Given the description of an element on the screen output the (x, y) to click on. 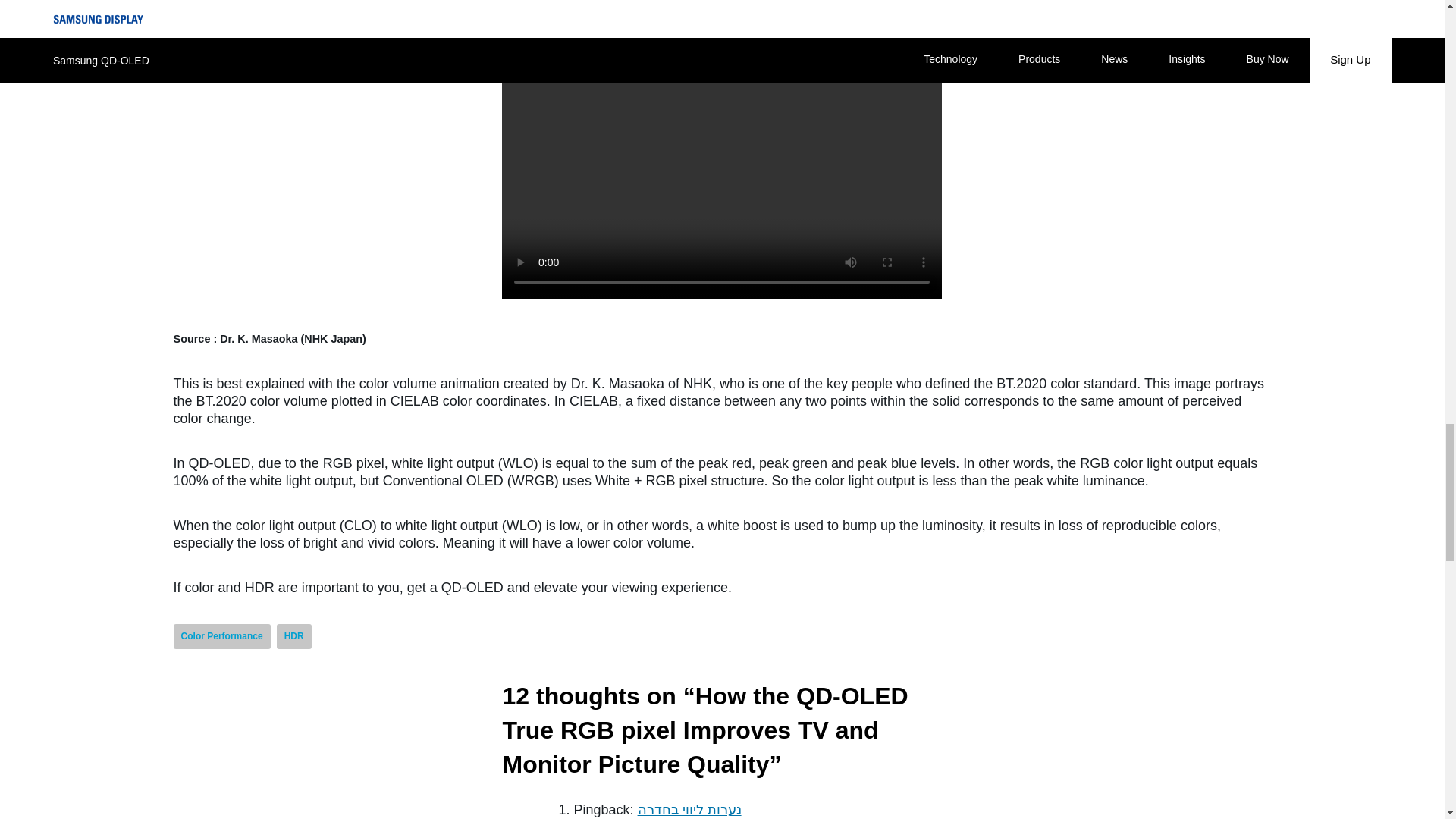
HDR (293, 636)
Color Performance (221, 636)
